Given the description of an element on the screen output the (x, y) to click on. 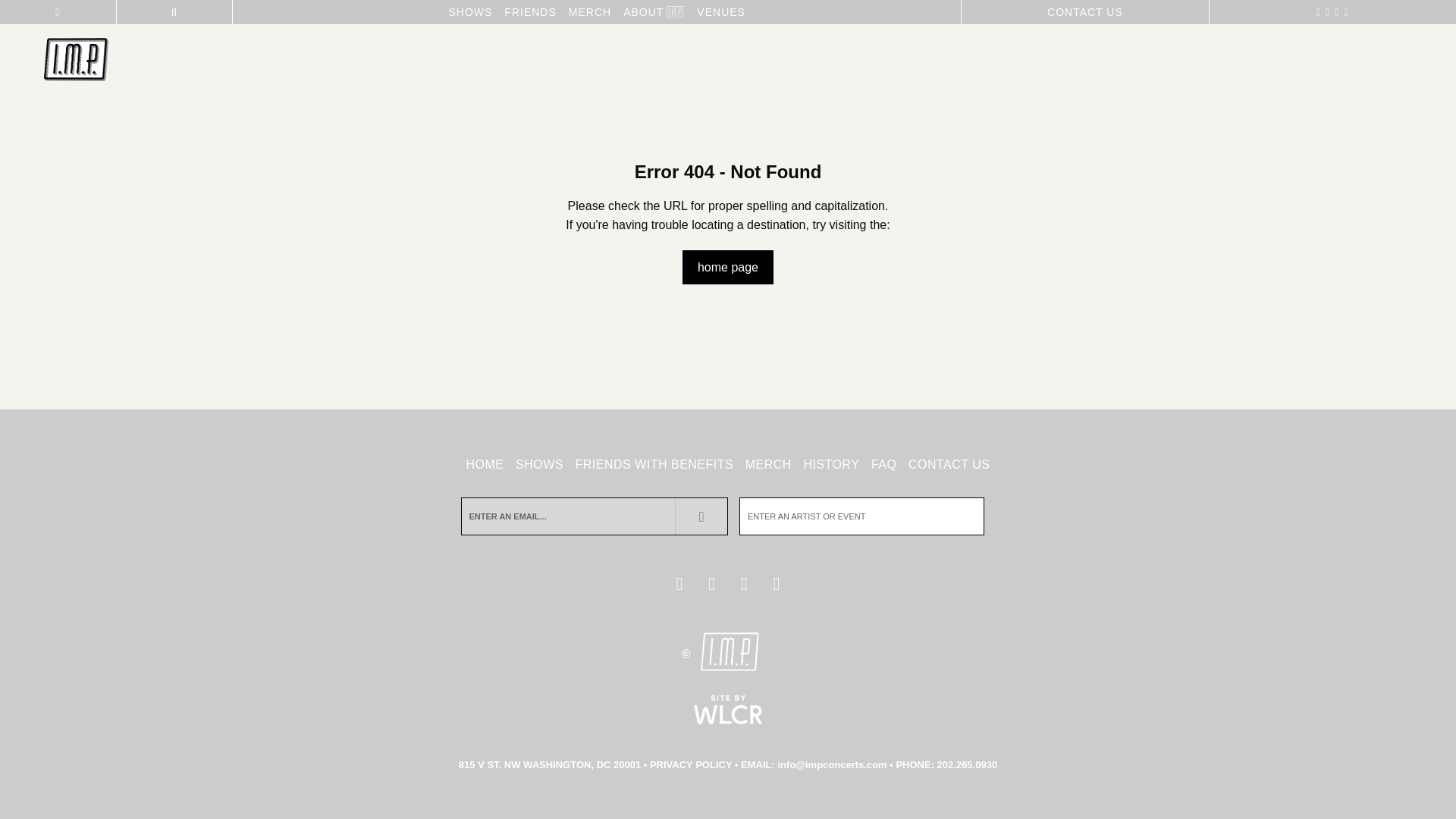
IMP (75, 60)
SHOWS (540, 465)
MERCH (767, 465)
CONTACT US (1084, 12)
ABOUT (643, 12)
FAQ (883, 465)
CONTACT US (948, 465)
FRIENDS (529, 12)
home page (727, 267)
SHOWS (469, 12)
